Given the description of an element on the screen output the (x, y) to click on. 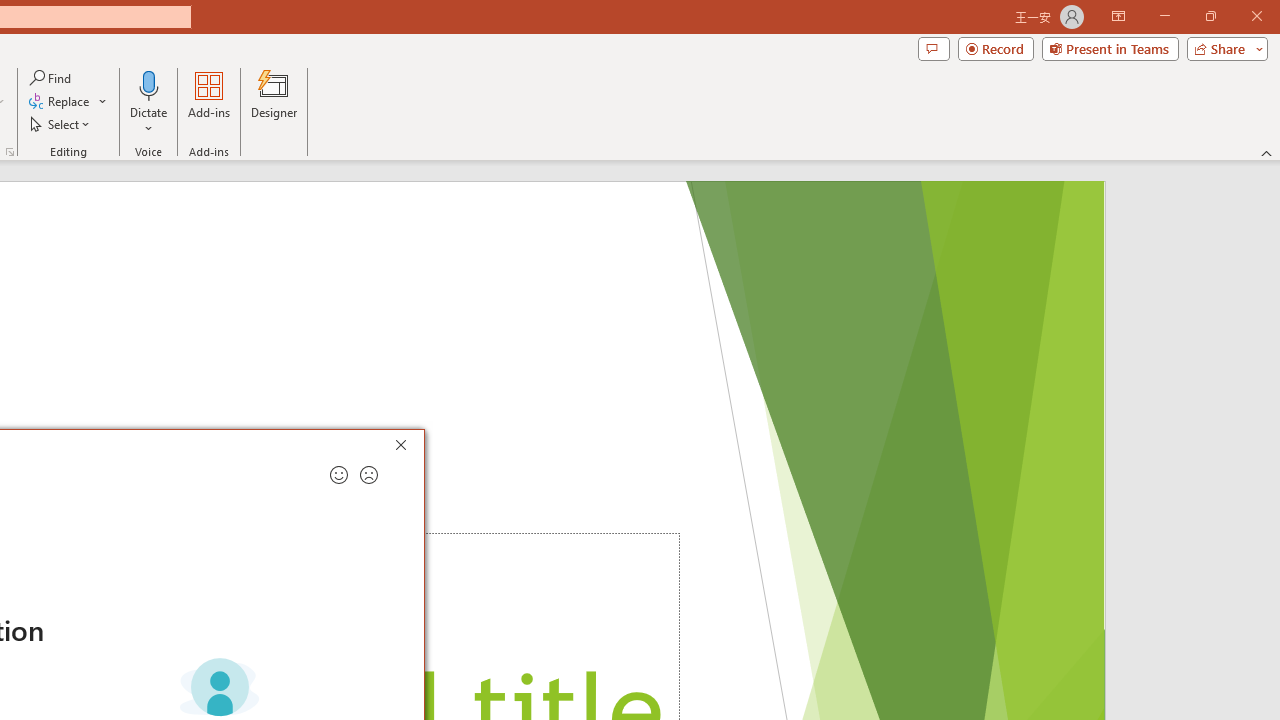
Find... (51, 78)
